Given the description of an element on the screen output the (x, y) to click on. 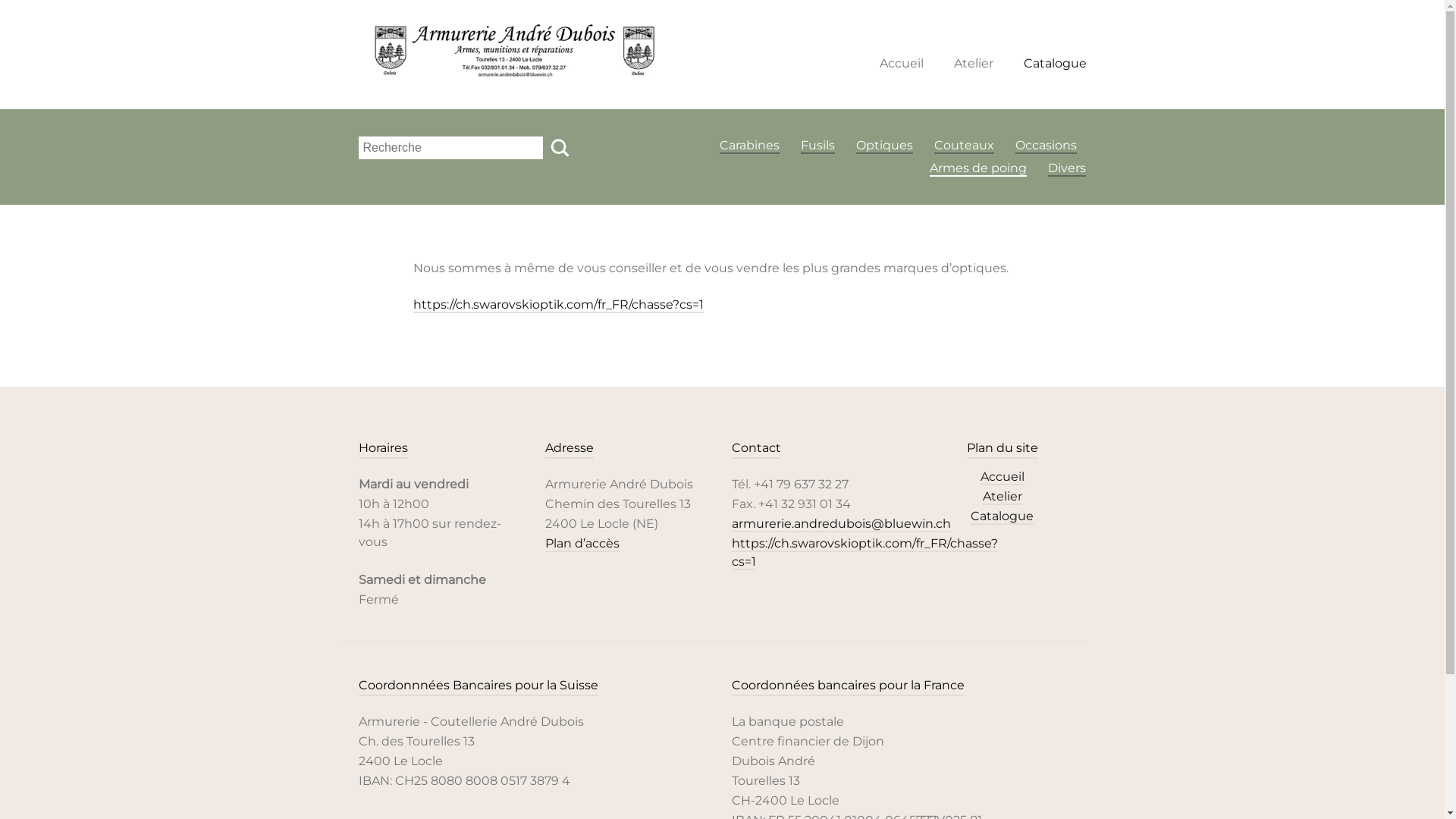
Optiques Element type: text (884, 145)
Atelier Element type: text (973, 63)
Catalogue Element type: text (1054, 63)
armurerie.andredubois@bluewin.ch Element type: text (840, 524)
Divers Element type: text (1066, 168)
Armes de poing Element type: text (977, 168)
Carabines Element type: text (749, 145)
https://ch.swarovskioptik.com/fr_FR/chasse?cs=1 Element type: text (864, 553)
Accueil Element type: text (1001, 477)
Couteaux Element type: text (964, 145)
Fusils Element type: text (817, 145)
Occasions Element type: text (1045, 145)
Atelier Element type: text (1002, 497)
Armurerie Dubois Element type: text (512, 52)
Rechercher Element type: text (561, 147)
Catalogue Element type: text (1001, 516)
https://ch.swarovskioptik.com/fr_FR/chasse?cs=1 Element type: text (557, 305)
Accueil Element type: text (901, 63)
